Given the description of an element on the screen output the (x, y) to click on. 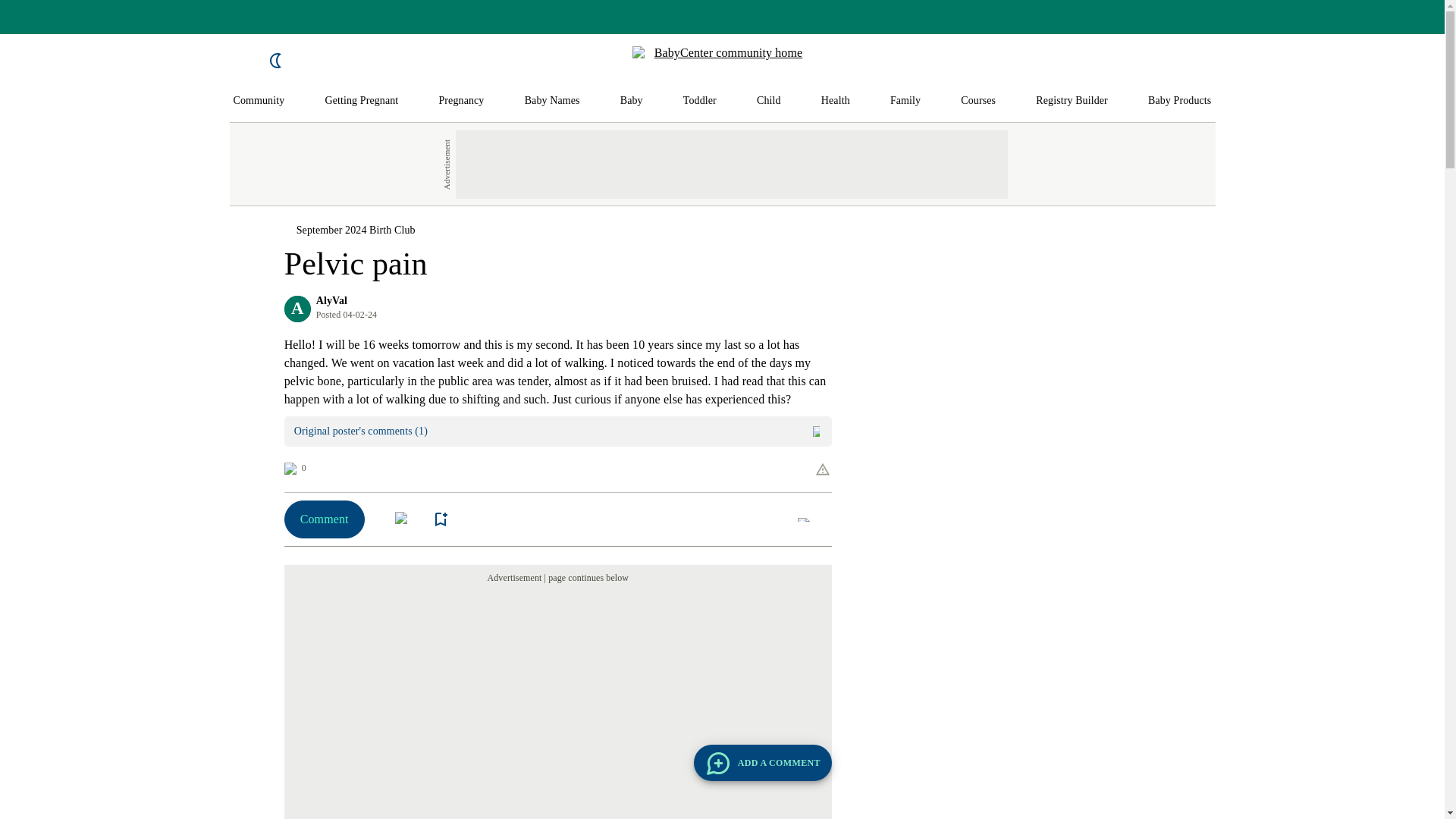
Baby (631, 101)
Pregnancy (460, 101)
Health (835, 101)
Family (904, 101)
Baby Products (1179, 101)
Child (768, 101)
Registry Builder (1071, 101)
Community (258, 101)
Getting Pregnant (360, 101)
Toddler (699, 101)
